Given the description of an element on the screen output the (x, y) to click on. 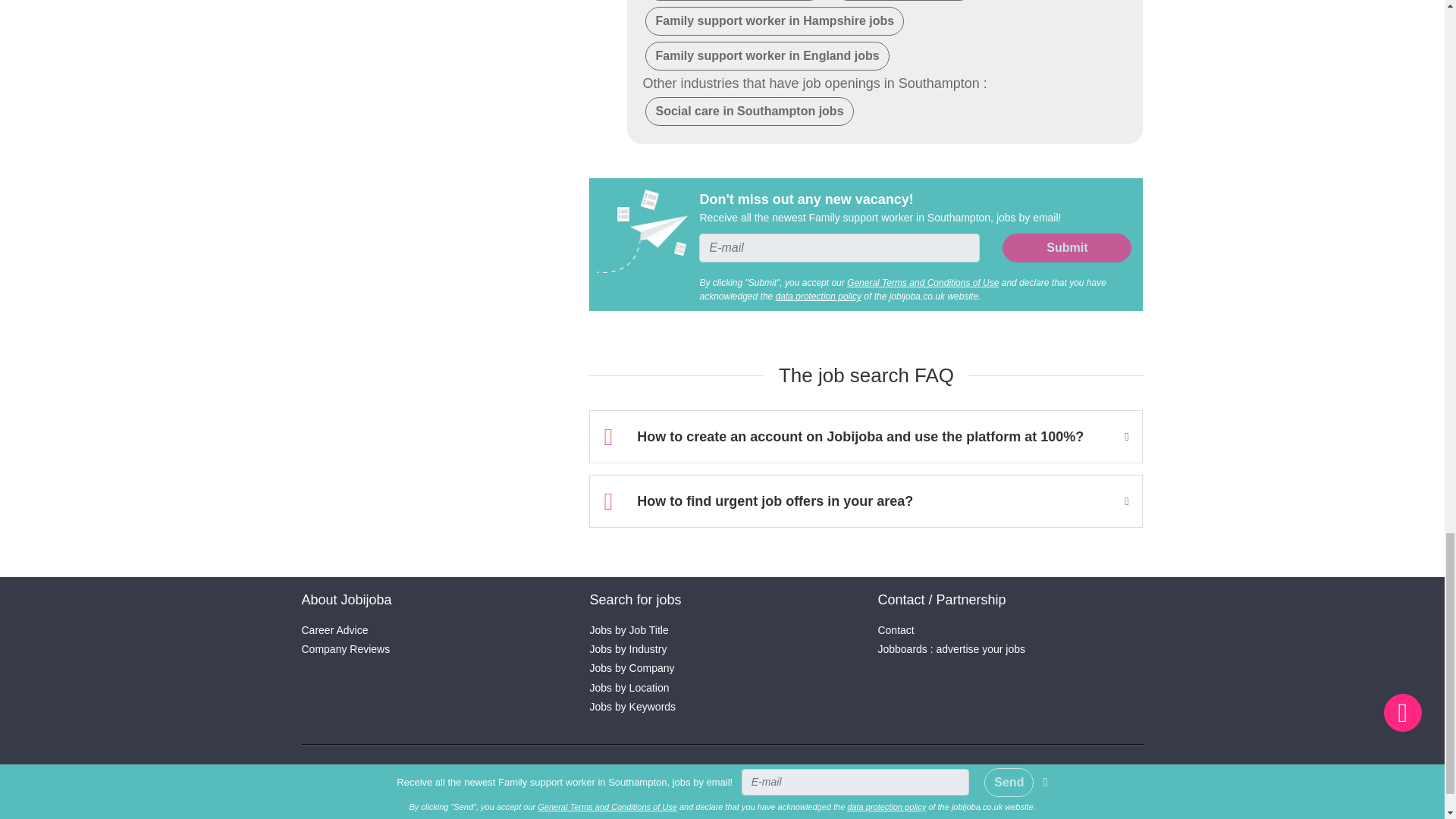
Social care in Southampton jobs (749, 111)
Family support worker in England jobs (766, 55)
Family support worker in Hampshire jobs (774, 21)
Submit (1067, 247)
